Given the description of an element on the screen output the (x, y) to click on. 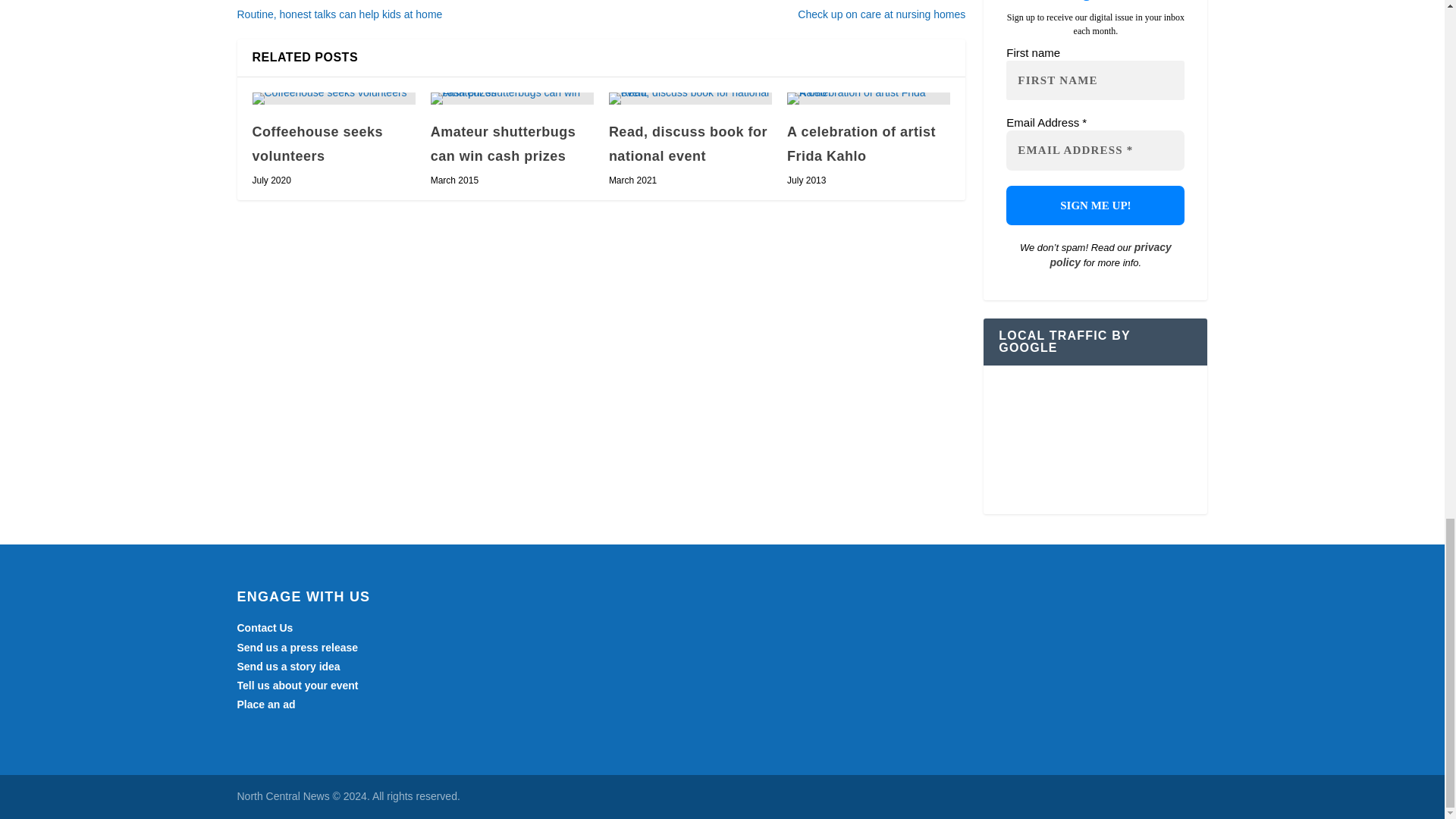
Amateur shutterbugs can win cash prizes (512, 98)
Coffeehouse seeks volunteers (316, 143)
Sign me up! (1095, 205)
Coffeehouse seeks volunteers (332, 98)
Read, discuss book for national event (689, 98)
A celebration of artist Frida Kahlo (868, 98)
